Given the description of an element on the screen output the (x, y) to click on. 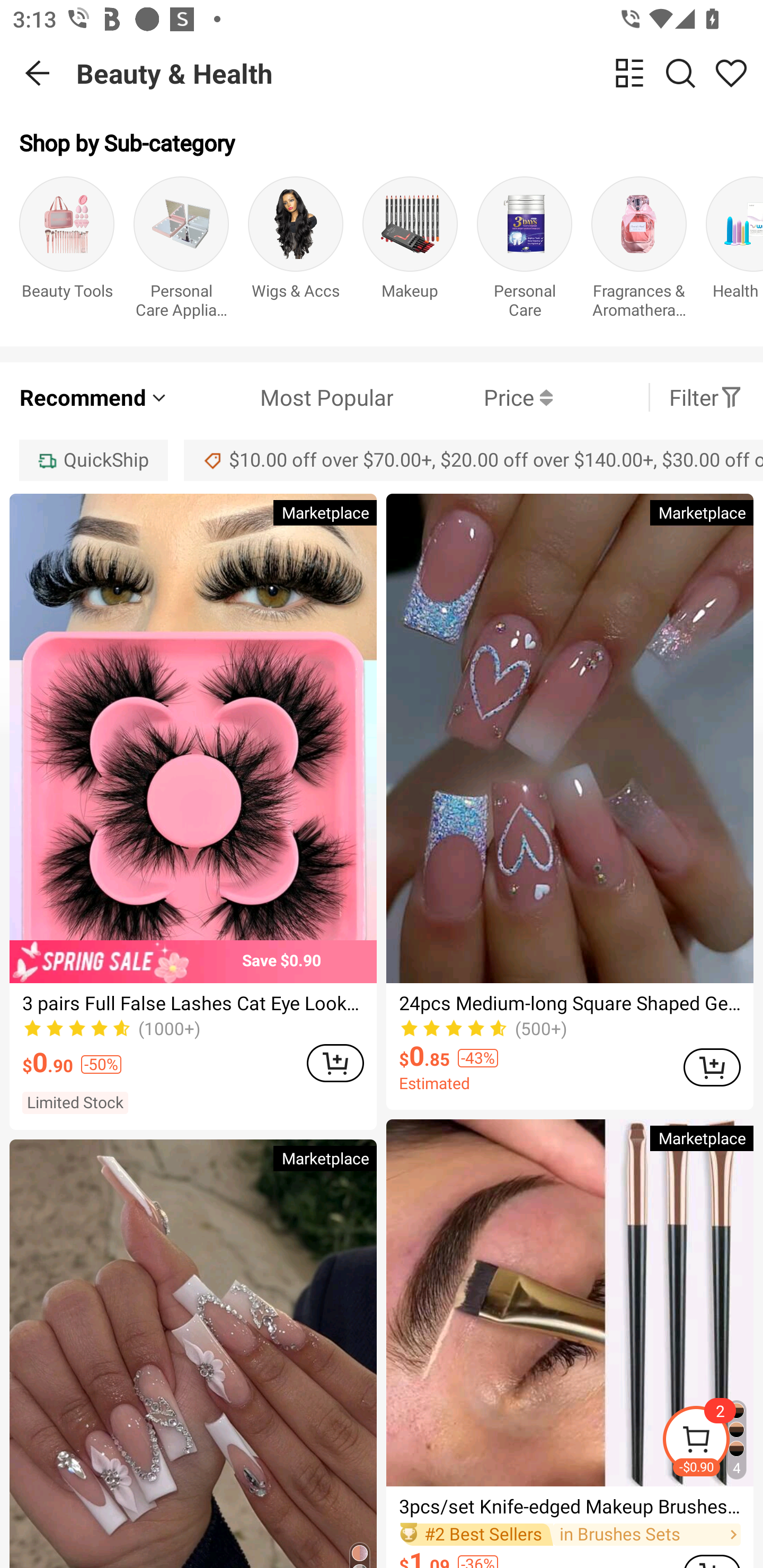
Beauty & Health change view Search Share (419, 72)
change view (629, 72)
Search (679, 72)
Share (730, 72)
Beauty Tools (66, 251)
Personal Care Appliance (180, 251)
Wigs & Accs (295, 251)
Makeup (409, 251)
Personal Care (524, 251)
Fragrances & Aromatherapy (638, 251)
Health Care (734, 251)
Recommend (94, 397)
Most Popular (280, 397)
Price (472, 397)
Filter (705, 397)
QuickShip (93, 460)
ADD TO CART (334, 1062)
ADD TO CART (711, 1067)
-$0.90 (712, 1441)
#2 Best Sellers in Brushes Sets (569, 1534)
